Given the description of an element on the screen output the (x, y) to click on. 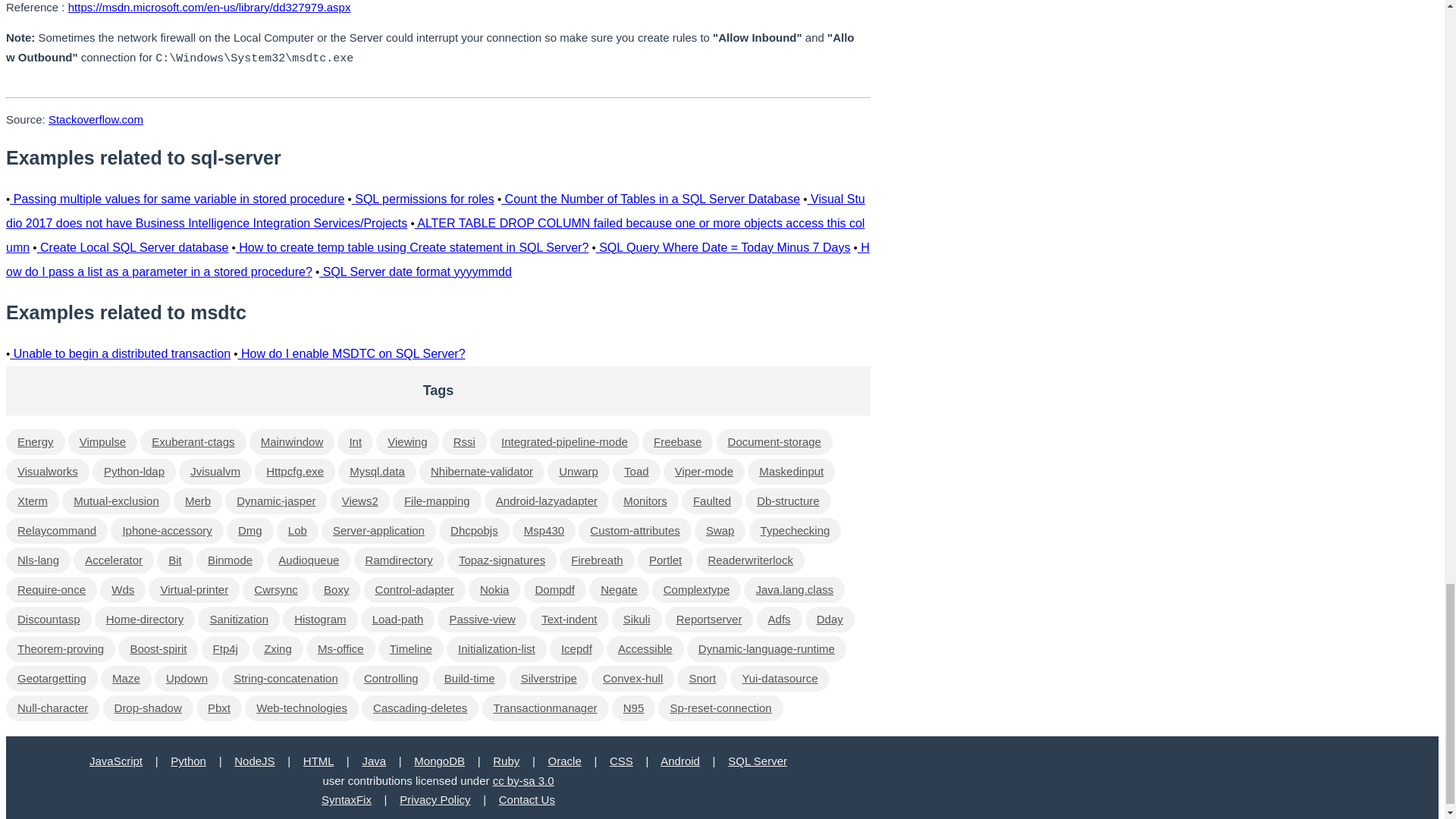
SQL Server date format yyyymmdd (415, 271)
How do I pass a list as a parameter in a stored procedure? (437, 259)
Stackoverflow.com (95, 119)
Exuberant-ctags (192, 442)
Freebase (677, 442)
Unable to begin a distributed transaction (120, 353)
Create Local SQL Server database (132, 246)
Mainwindow (291, 442)
How do I enable MSDTC on SQL Server? (351, 353)
Integrated-pipeline-mode (564, 442)
Viewing (406, 442)
Rssi (464, 442)
